Given the description of an element on the screen output the (x, y) to click on. 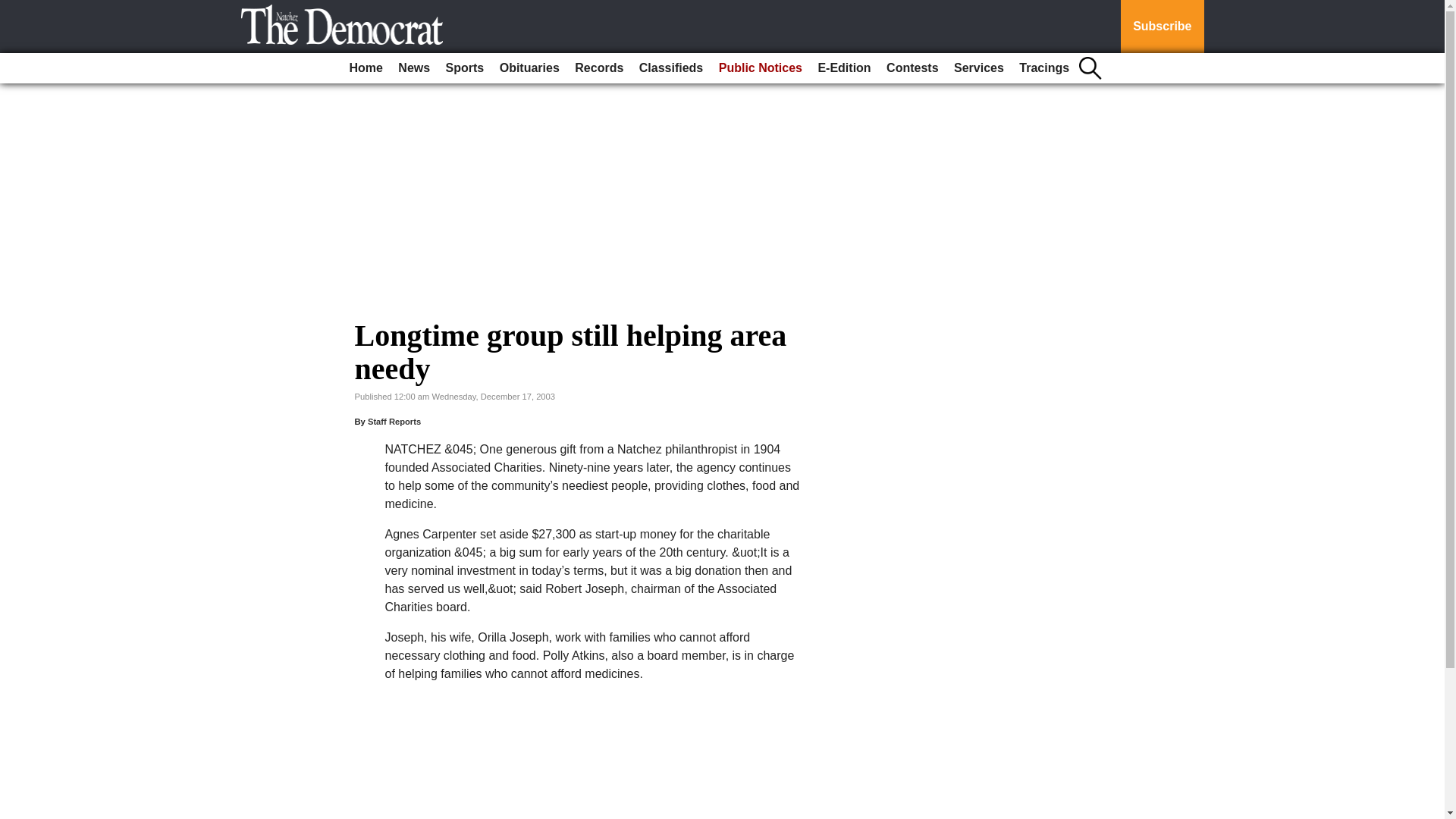
E-Edition (843, 68)
News (413, 68)
Contests (911, 68)
Tracings (1044, 68)
Home (365, 68)
Public Notices (760, 68)
Classifieds (671, 68)
Services (978, 68)
Records (598, 68)
Subscribe (1162, 26)
